Given the description of an element on the screen output the (x, y) to click on. 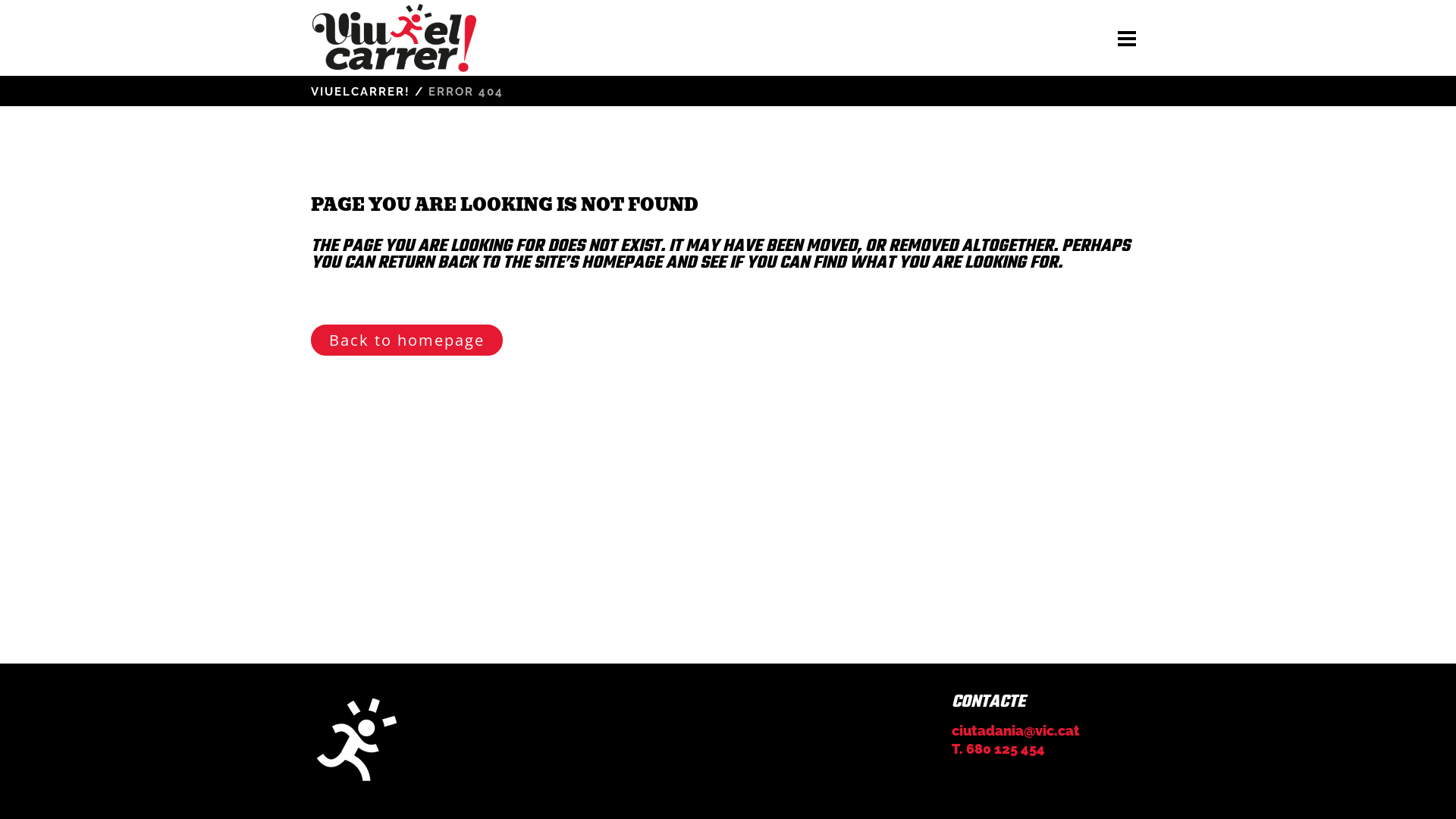
Back to homepage Element type: text (406, 339)
  Element type: text (1126, 37)
VIUELCARRER! Element type: text (360, 91)
ciutadania@vic.cat Element type: text (1015, 730)
T. 680 125 454 Element type: text (997, 748)
